Given the description of an element on the screen output the (x, y) to click on. 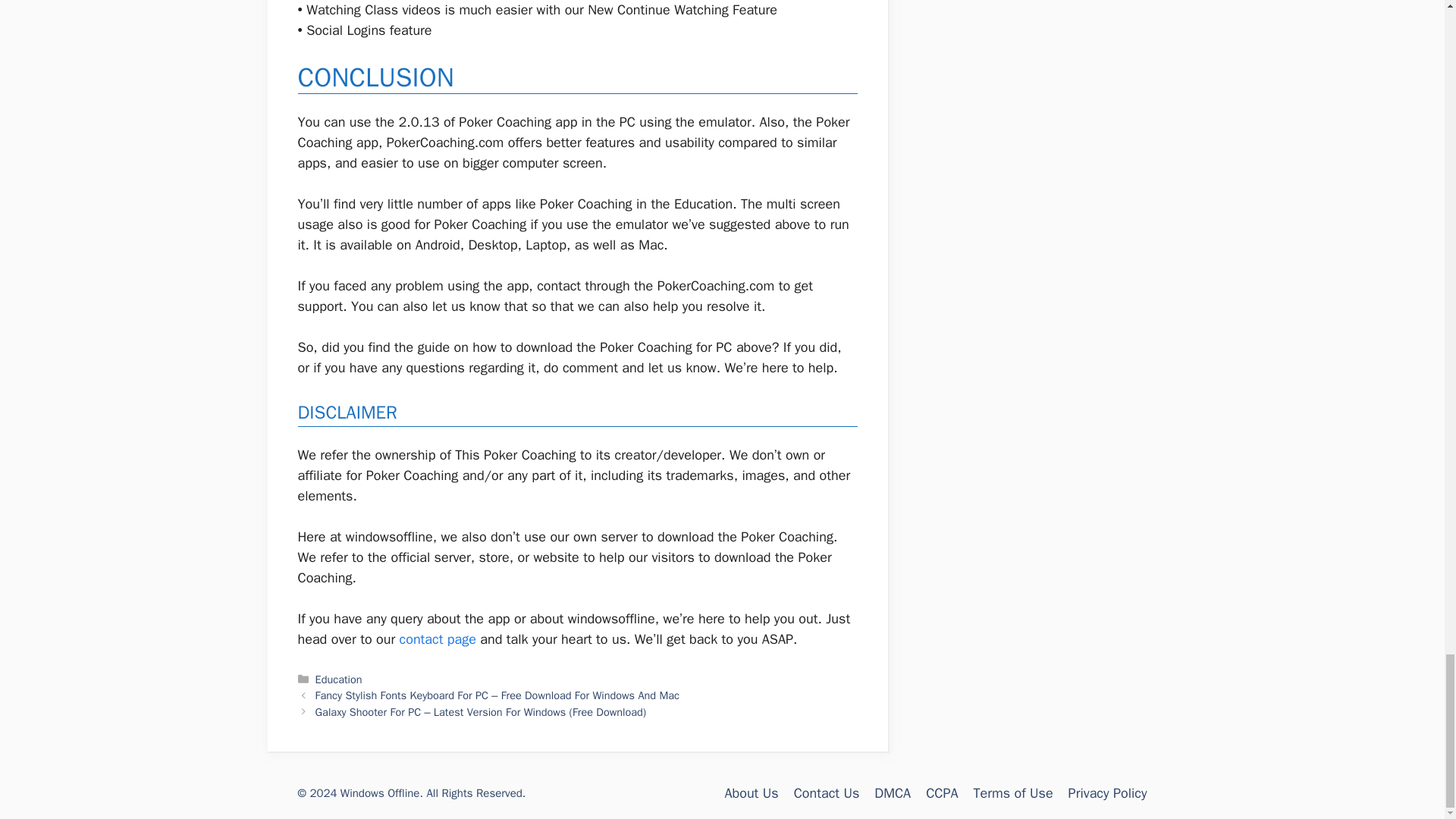
About Us (750, 792)
contact page (437, 638)
Education (338, 678)
